Given the description of an element on the screen output the (x, y) to click on. 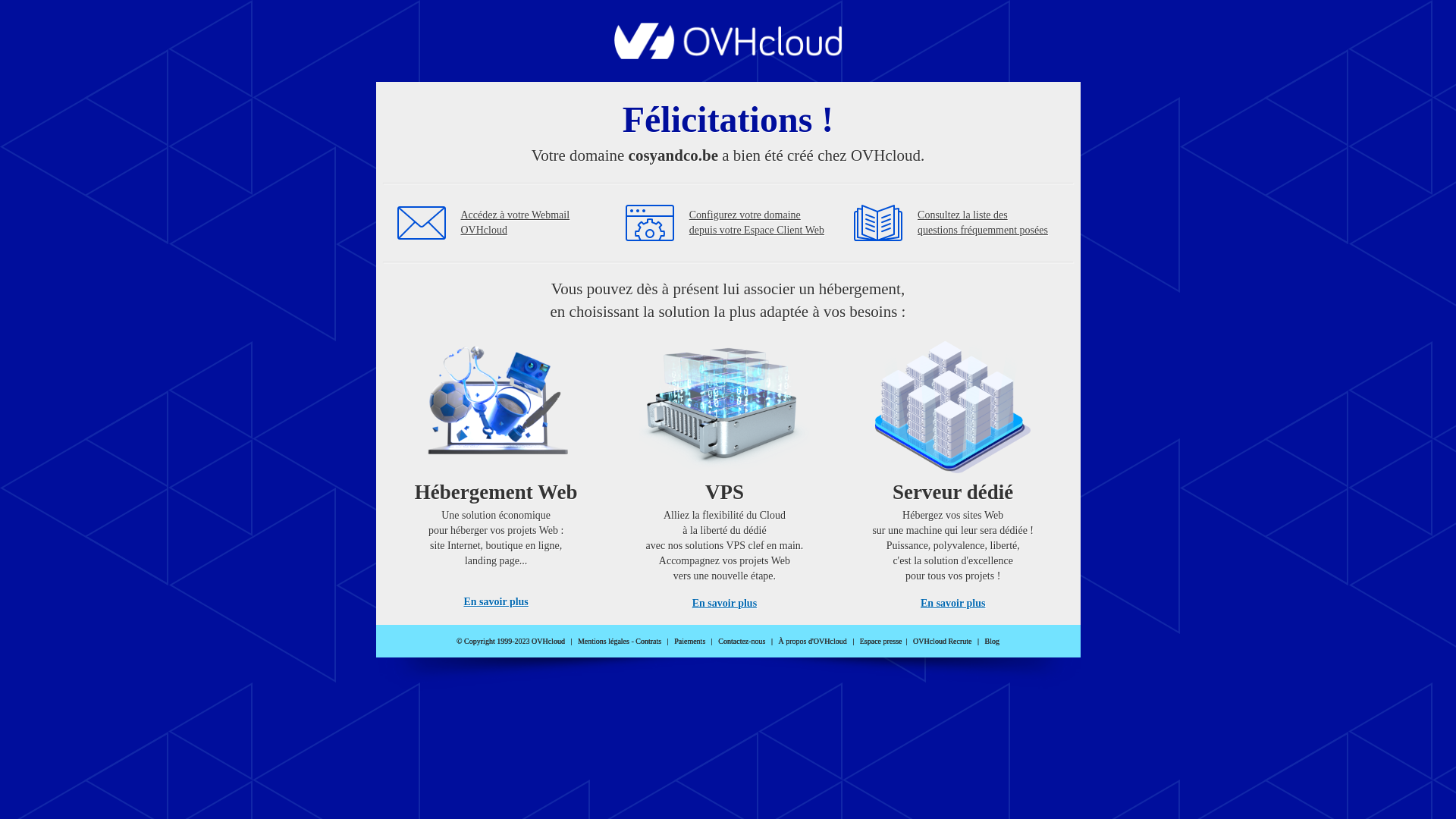
Paiements Element type: text (689, 641)
En savoir plus Element type: text (495, 601)
Blog Element type: text (992, 641)
En savoir plus Element type: text (952, 602)
Espace presse Element type: text (880, 641)
Contactez-nous Element type: text (741, 641)
Configurez votre domaine
depuis votre Espace Client Web Element type: text (756, 222)
OVHcloud Element type: hover (727, 54)
VPS Element type: hover (724, 469)
OVHcloud Recrute Element type: text (942, 641)
En savoir plus Element type: text (724, 602)
